Given the description of an element on the screen output the (x, y) to click on. 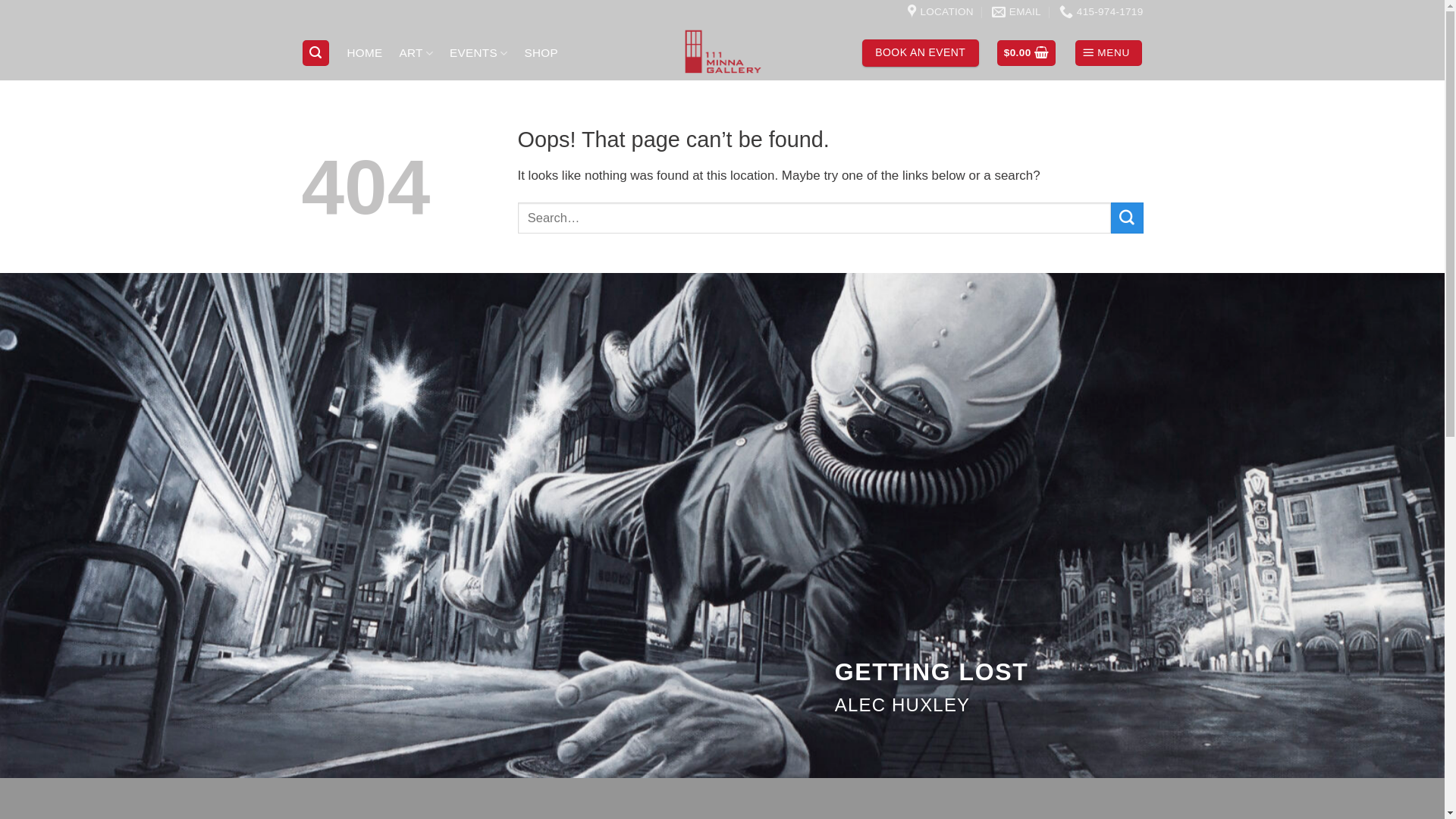
BOOK AN EVENT Element type: text (920, 52)
EMAIL Element type: text (1016, 12)
Skip to content Element type: text (0, 0)
MENU Element type: text (1108, 53)
ART Element type: text (415, 52)
$0.00 Element type: text (1026, 53)
LOCATION Element type: text (940, 12)
415-974-1719 Element type: text (1101, 12)
HOME Element type: text (364, 52)
ALEC HUXLEY Element type: text (902, 704)
SHOP Element type: text (540, 52)
EVENTS Element type: text (478, 52)
